Given the description of an element on the screen output the (x, y) to click on. 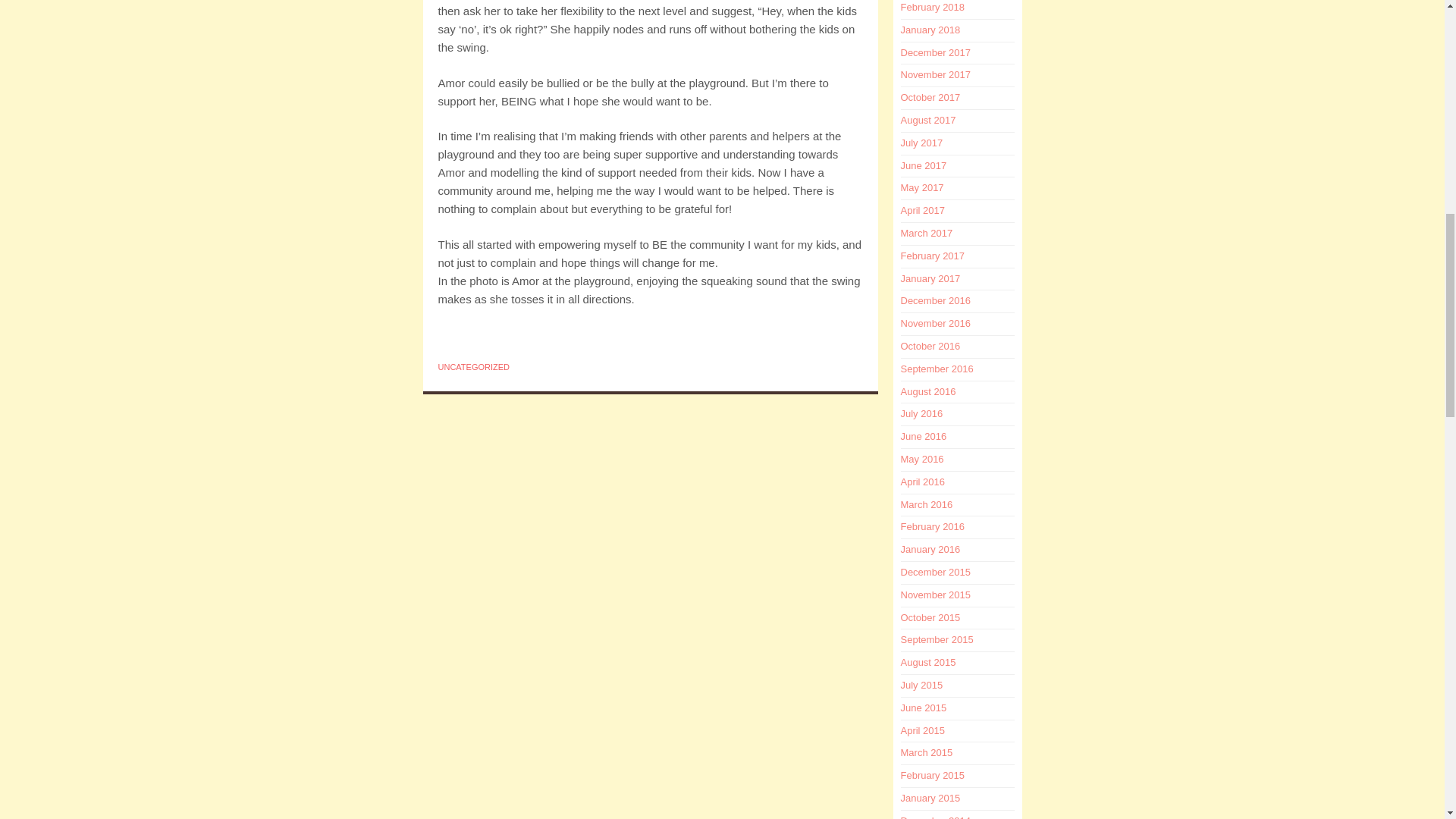
July 2017 (922, 142)
December 2017 (936, 52)
May 2017 (922, 187)
October 2017 (930, 97)
UNCATEGORIZED (474, 366)
June 2017 (924, 165)
February 2018 (933, 7)
August 2017 (928, 120)
November 2017 (936, 74)
January 2018 (930, 30)
April 2017 (922, 210)
